Given the description of an element on the screen output the (x, y) to click on. 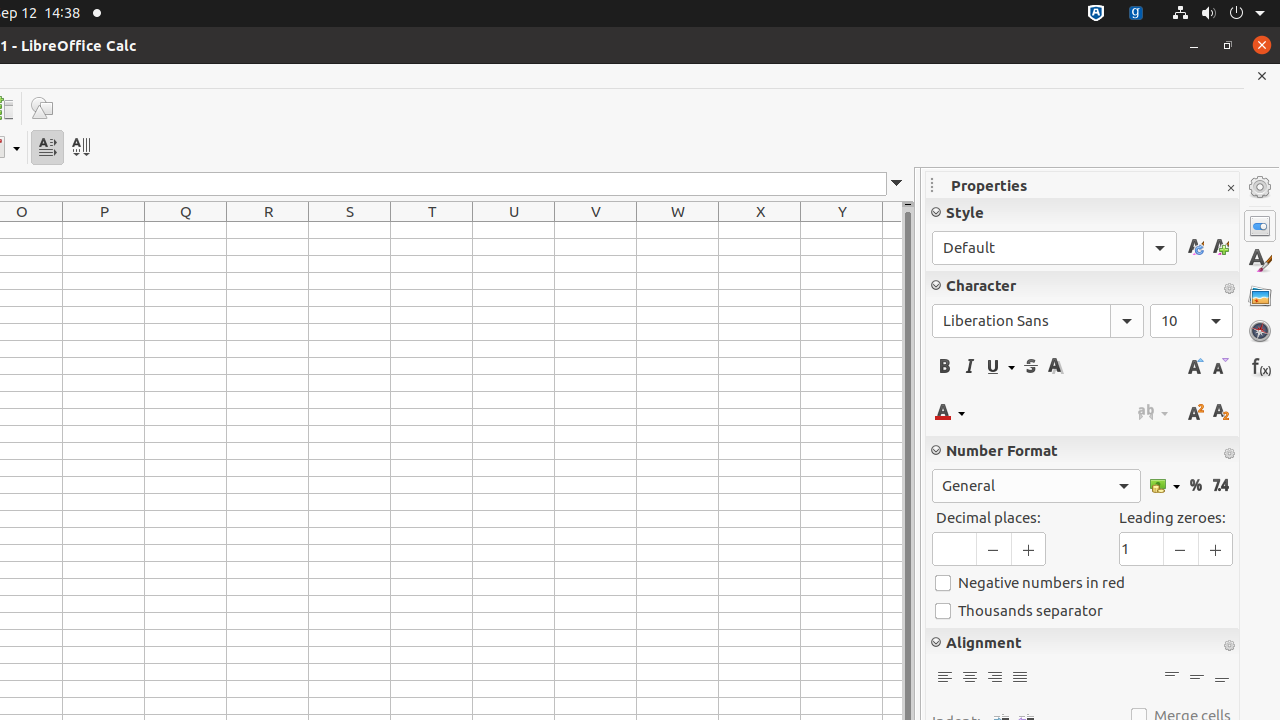
Align Top Element type: toggle-button (1171, 677)
Strikethrough Element type: toggle-button (1030, 366)
V1 Element type: table-cell (596, 230)
:1.21/StatusNotifierItem Element type: menu (1136, 13)
Text direction from top to bottom Element type: toggle-button (80, 147)
